Given the description of an element on the screen output the (x, y) to click on. 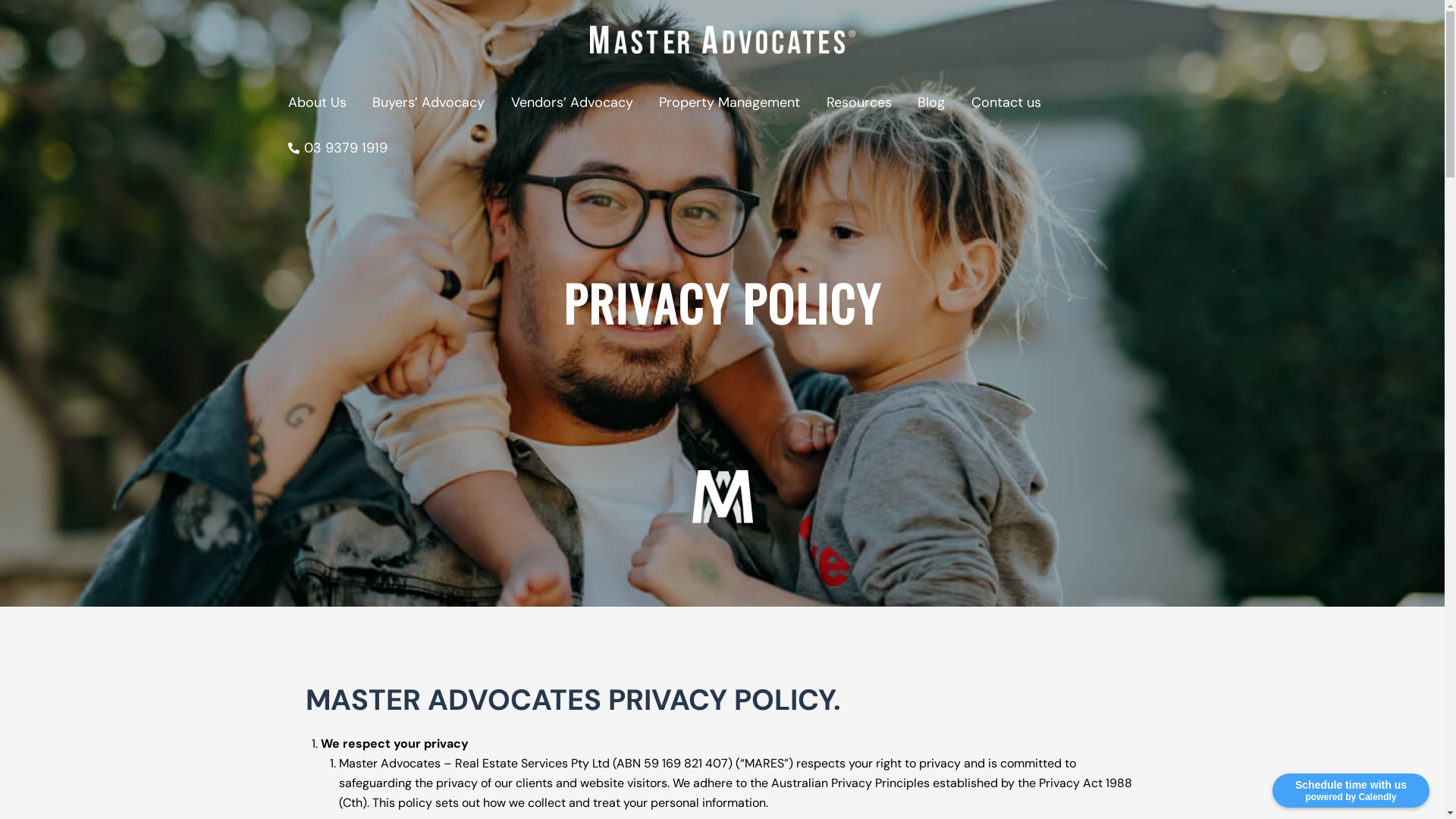
Contact us Element type: text (1006, 102)
Blog Element type: text (931, 102)
03 9379 1919 Element type: text (337, 147)
Resources Element type: text (859, 102)
Property Management Element type: text (729, 102)
About Us Element type: text (316, 102)
